Given the description of an element on the screen output the (x, y) to click on. 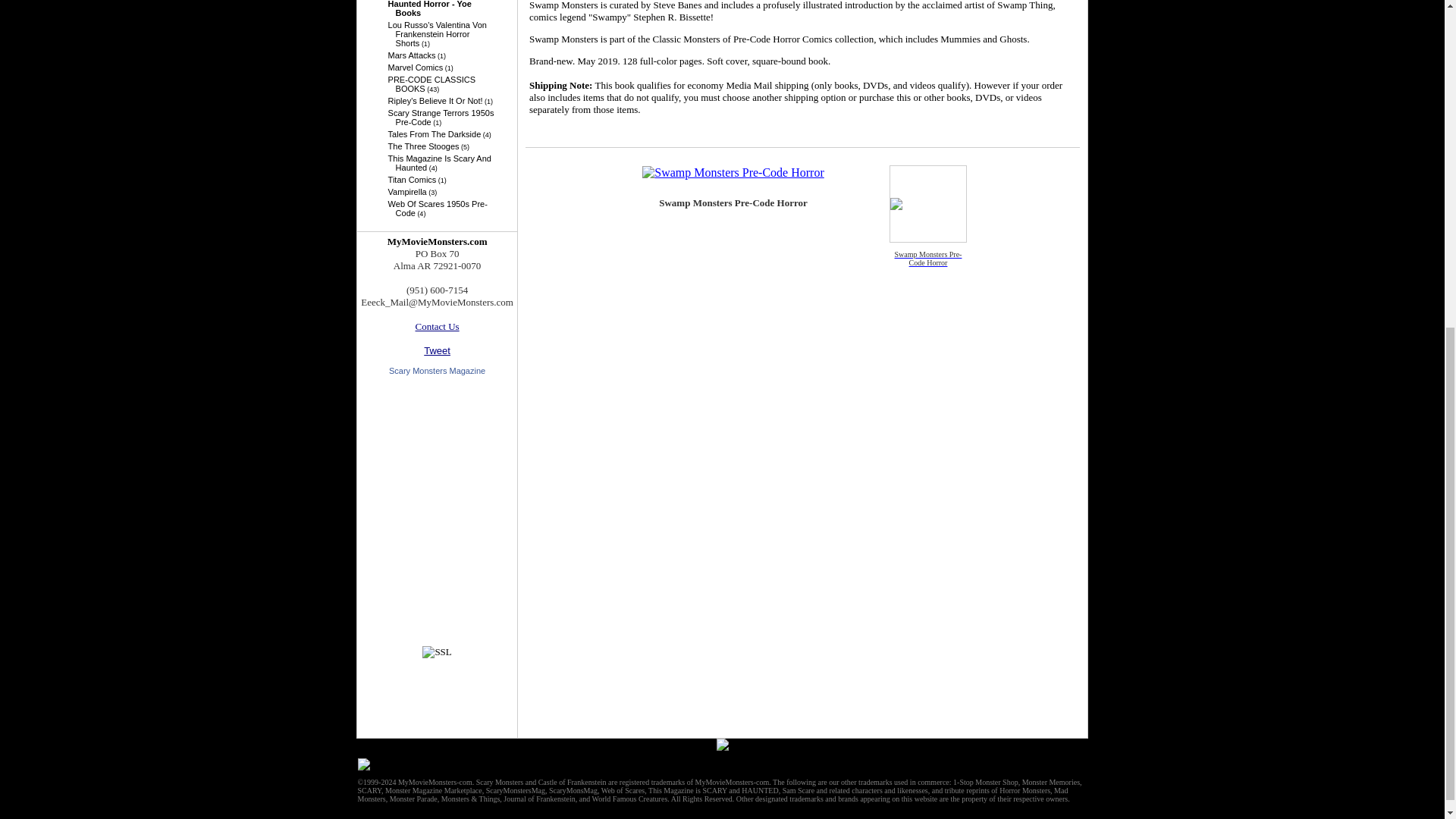
Contact Us (437, 326)
Haunted Horror - Yoe Books (441, 8)
Scary Monsters Magazine (436, 370)
Tweet (436, 350)
Scary Monsters Magazine (436, 370)
